Given the description of an element on the screen output the (x, y) to click on. 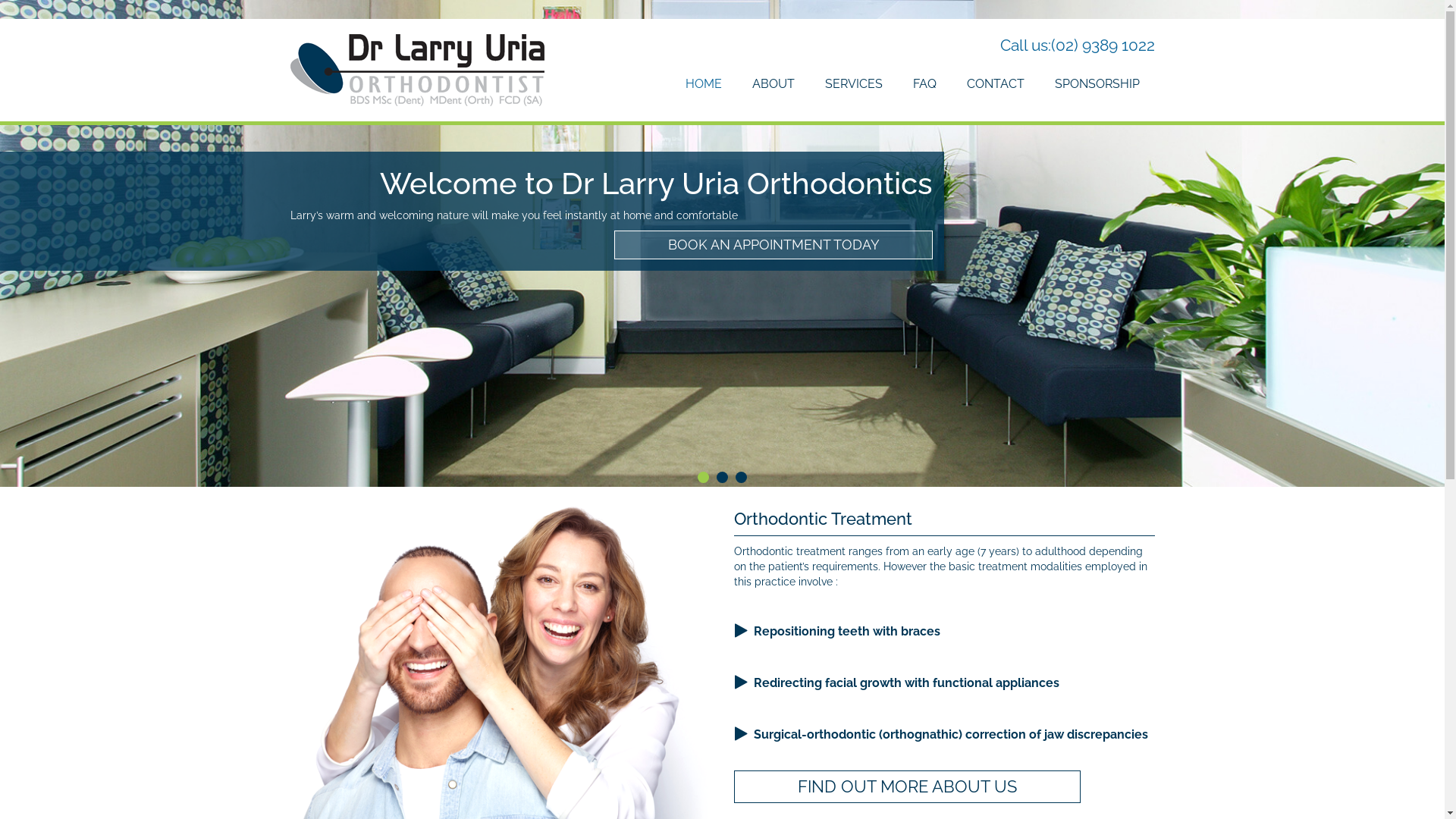
Call us:(02) 9389 1022 Element type: text (1076, 44)
HOME Element type: text (711, 84)
CONTACT Element type: text (994, 84)
ABOUT Element type: text (773, 84)
FIND OUT MORE ABOUT US Element type: text (907, 786)
SPONSORSHIP Element type: text (1096, 84)
BOOK AN APPOINTMENT TODAY Element type: text (721, 277)
SERVICES Element type: text (853, 84)
FAQ Element type: text (924, 84)
